Given the description of an element on the screen output the (x, y) to click on. 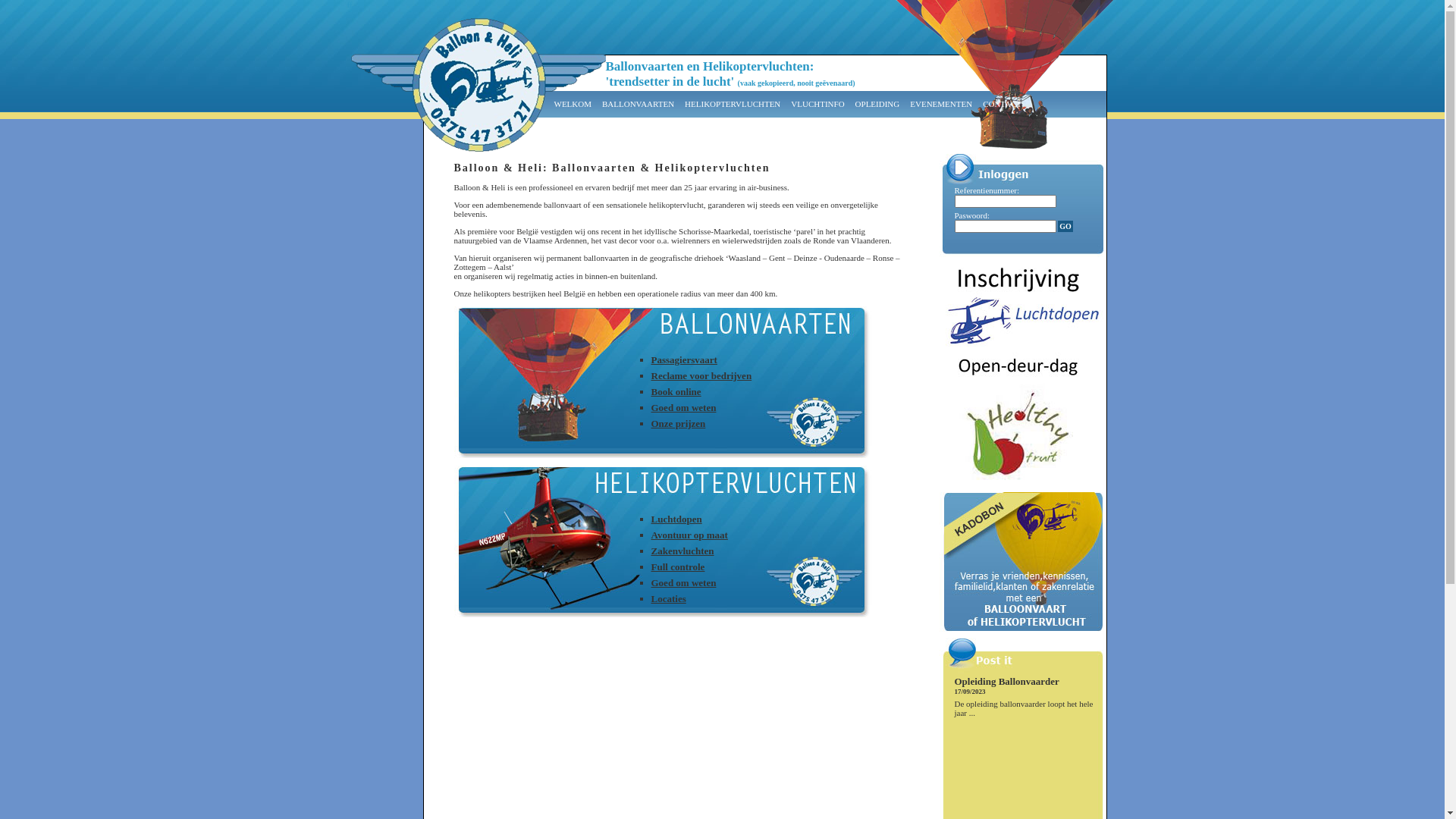
OPLEIDING Element type: text (877, 103)
Full controle Element type: text (677, 566)
Zakenvluchten Element type: text (681, 550)
Avontuur op maat Element type: text (688, 534)
GO Element type: text (1065, 226)
Goed om weten Element type: text (682, 582)
Reclame voor bedrijven Element type: text (700, 375)
Luchtdopen Element type: text (675, 518)
EVENEMENTEN Element type: text (940, 103)
Goed om weten Element type: text (682, 407)
De opleiding ballonvaarder loopt het hele jaar ... Element type: text (1022, 708)
Passagiersvaart Element type: text (683, 359)
HELIKOPTERVLUCHTEN Element type: text (732, 103)
WELKOM Element type: text (572, 103)
VLUCHTINFO Element type: text (817, 103)
Locaties Element type: text (667, 598)
BALLONVAARTEN Element type: text (637, 103)
CONTACT Element type: text (1001, 103)
Onze prijzen Element type: text (677, 423)
Book online Element type: text (675, 391)
